Given the description of an element on the screen output the (x, y) to click on. 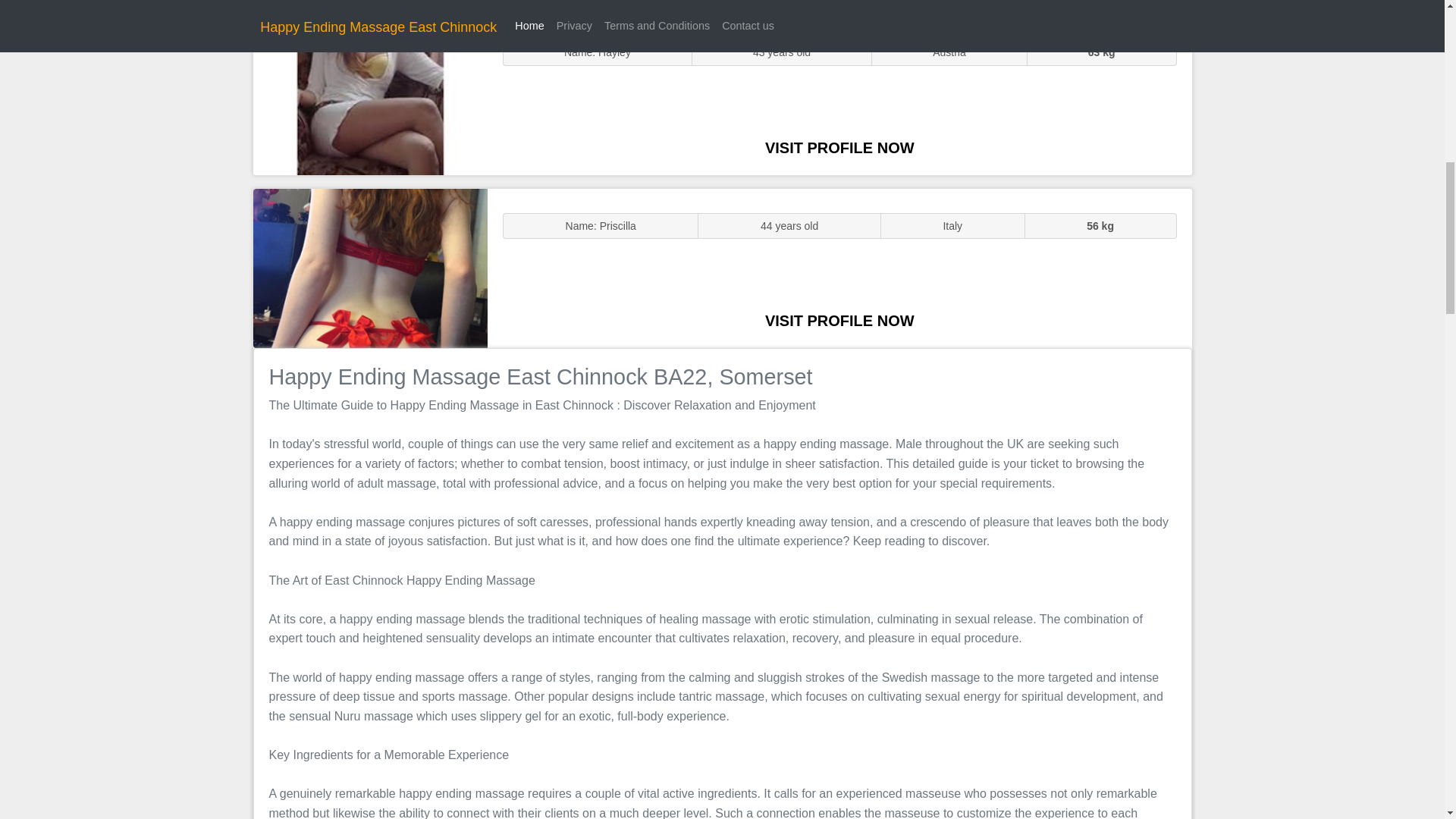
VISIT PROFILE NOW (839, 147)
VISIT PROFILE NOW (839, 320)
Sluts (370, 94)
Massage (370, 267)
